Given the description of an element on the screen output the (x, y) to click on. 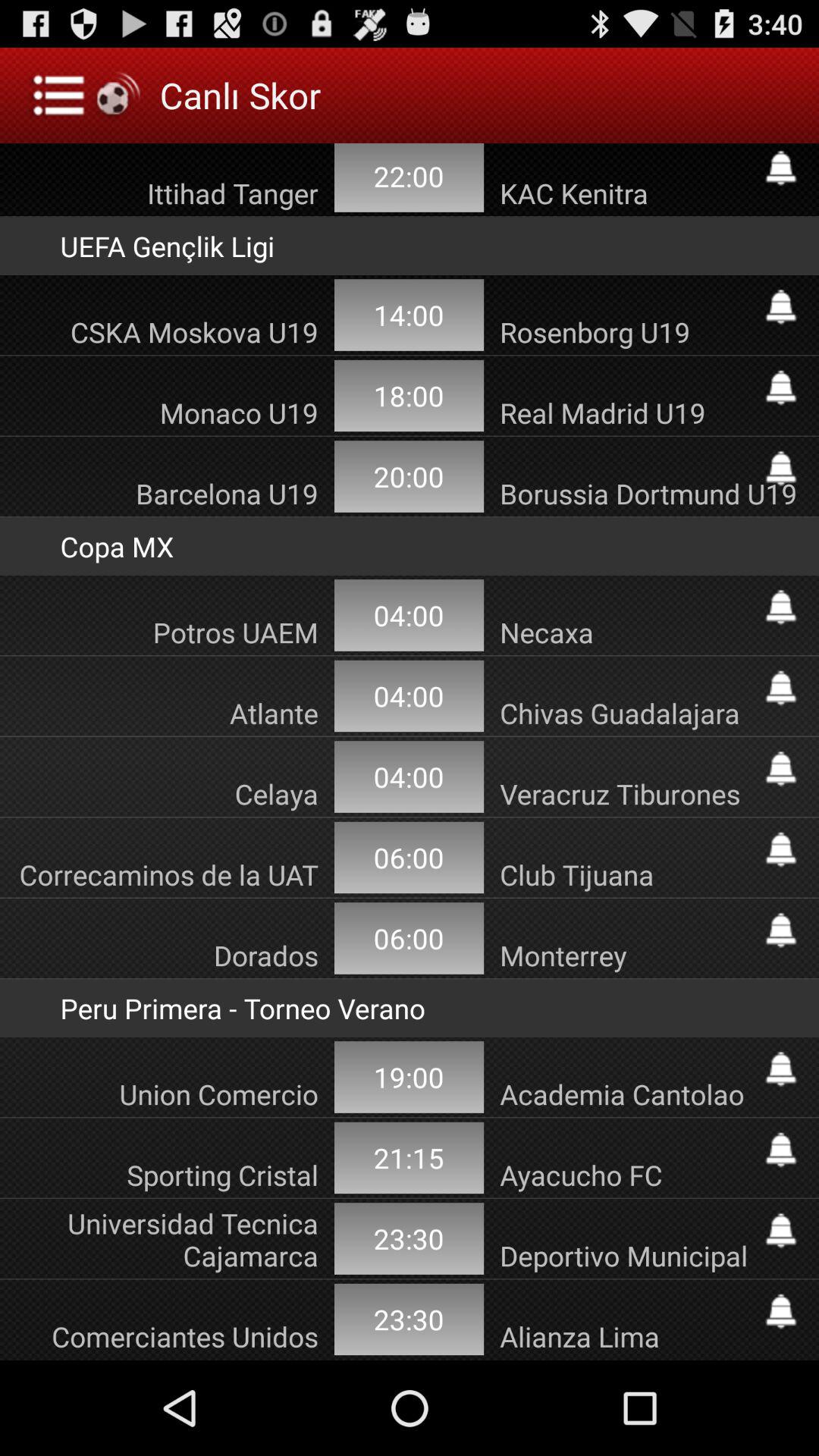
alarm button (780, 387)
